Given the description of an element on the screen output the (x, y) to click on. 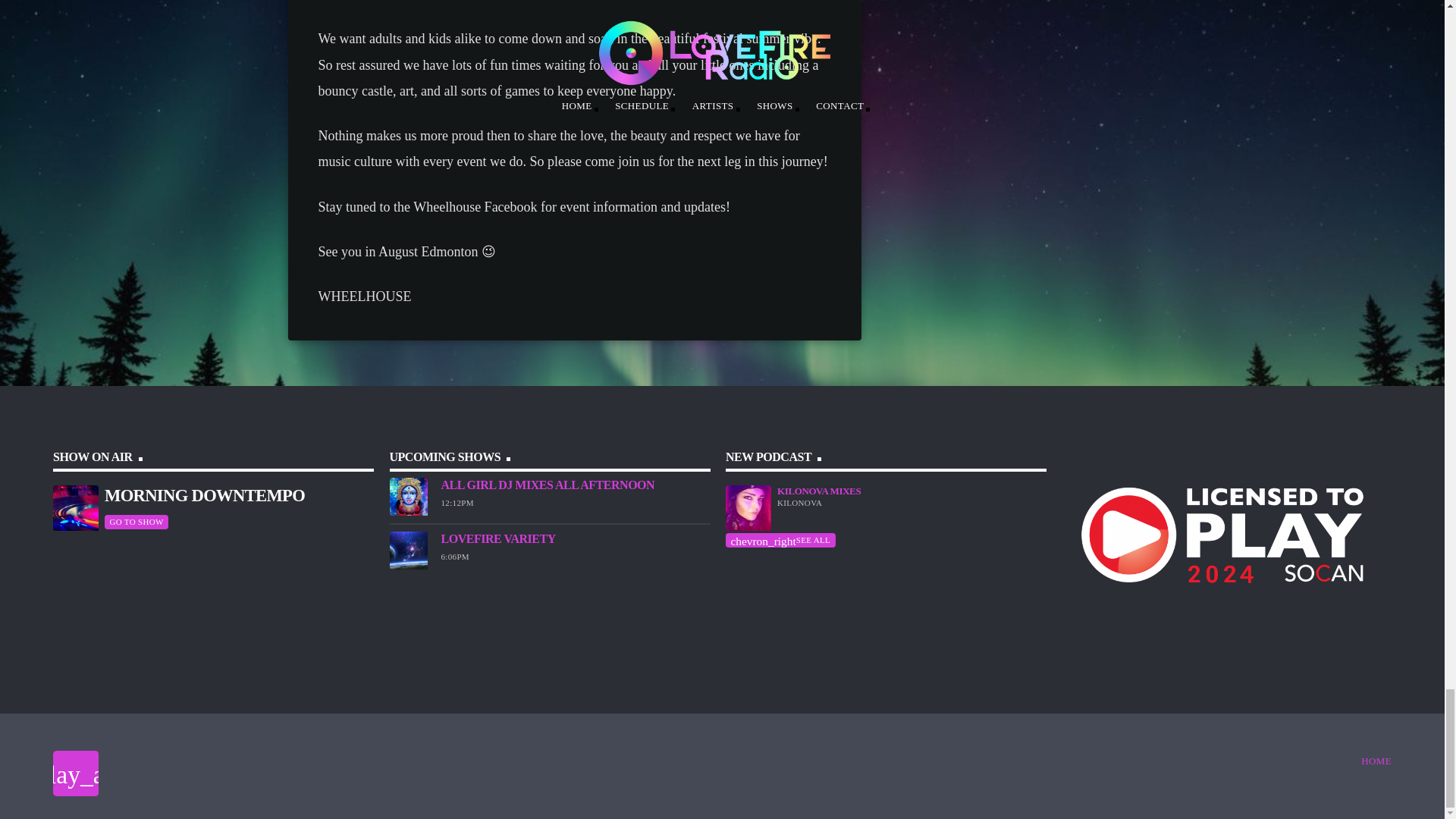
LOVEFIRE VARIETY (498, 538)
KILONOVA MIXES (818, 490)
GO TO SHOW (136, 522)
ALL GIRL DJ MIXES ALL AFTERNOON (548, 484)
